Given the description of an element on the screen output the (x, y) to click on. 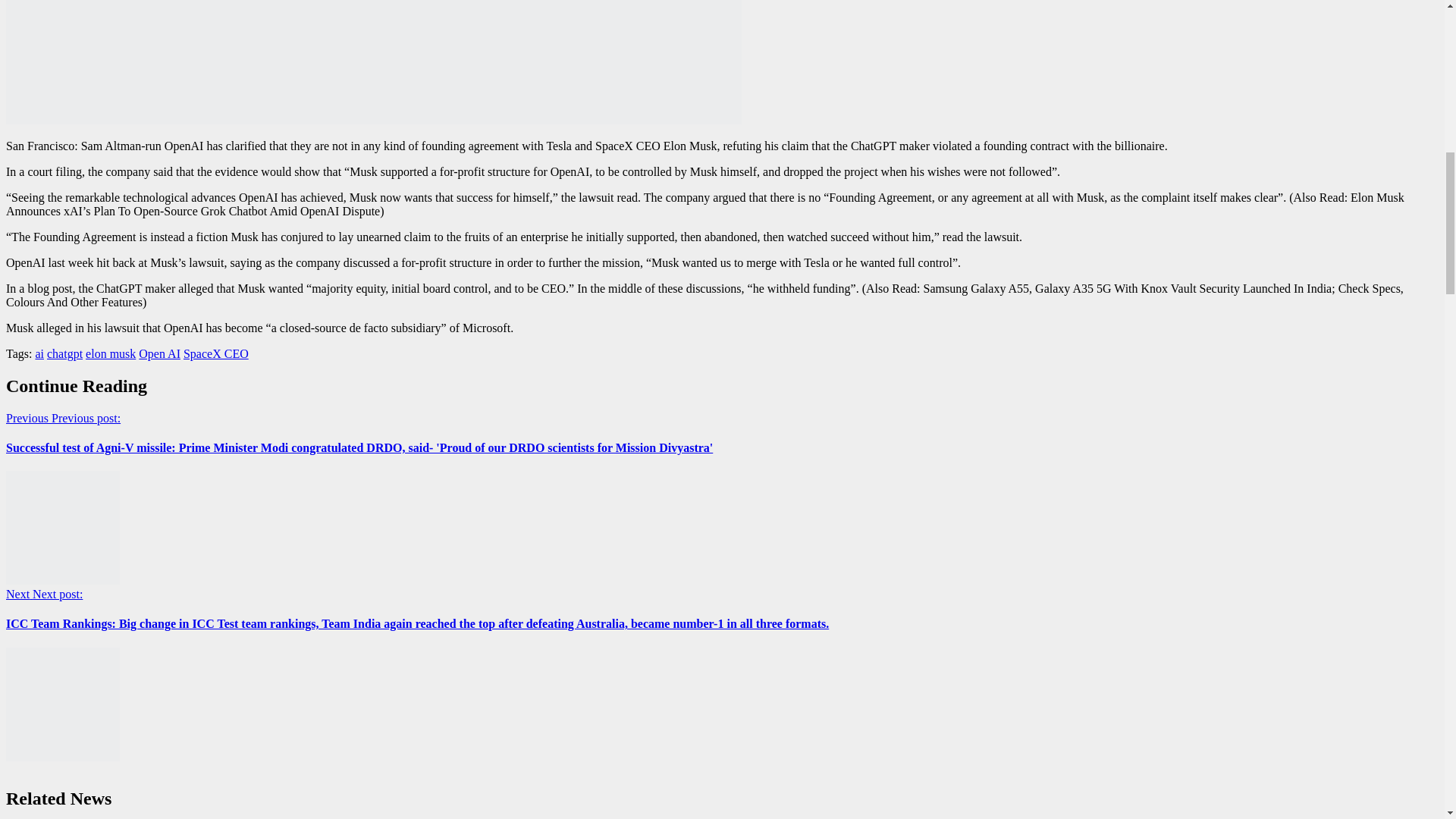
SpaceX CEO (215, 353)
Open AI (159, 353)
elon musk (110, 353)
chatgpt (64, 353)
ai (38, 353)
